Given the description of an element on the screen output the (x, y) to click on. 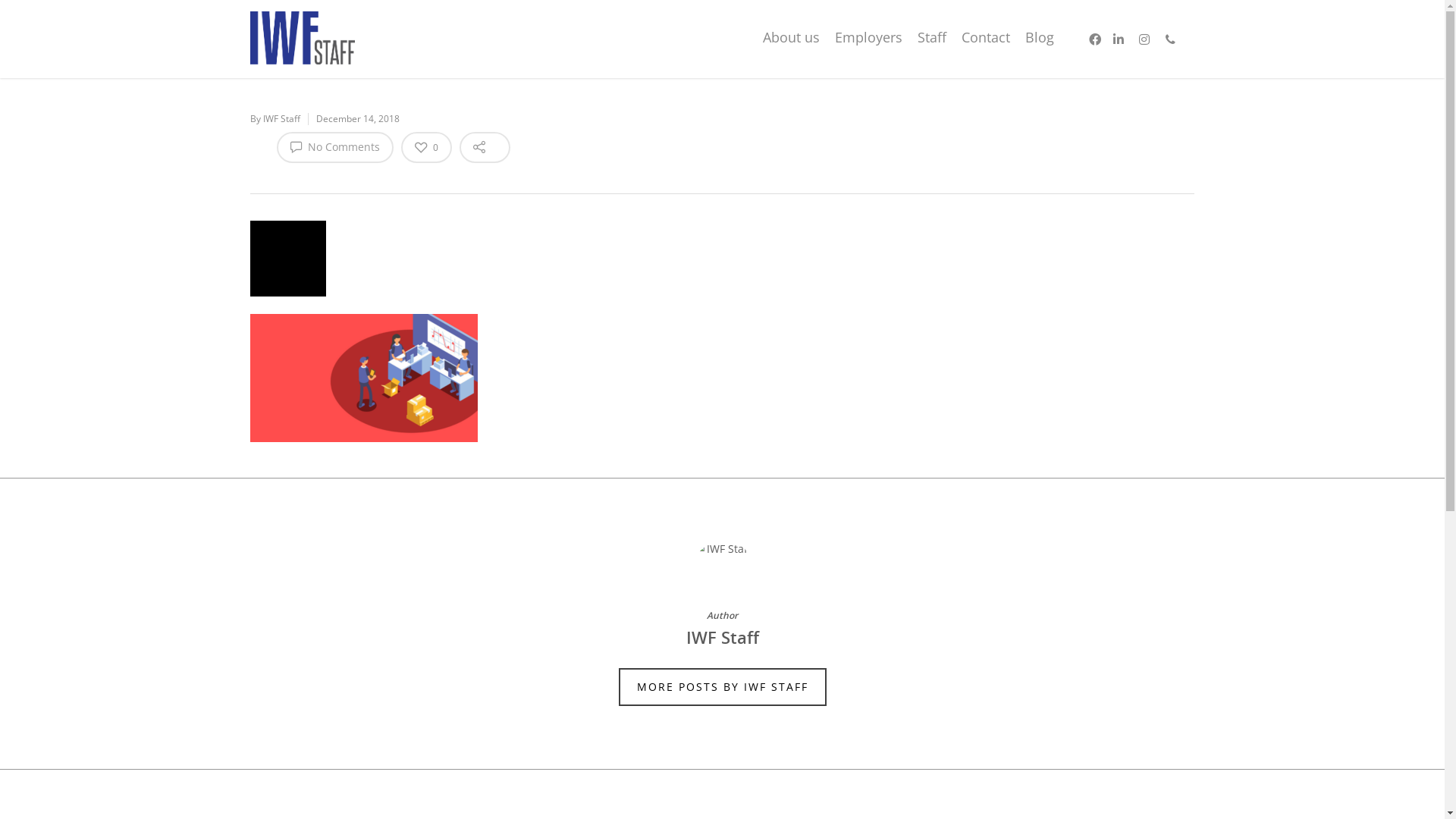
0 Element type: text (426, 147)
Staff Element type: text (931, 43)
About us Element type: text (790, 43)
Employers Element type: text (868, 43)
IWF Staff Element type: text (281, 118)
No Comments Element type: text (334, 147)
Blog Element type: text (1039, 43)
MORE POSTS BY IWF STAFF Element type: text (722, 687)
Contact Element type: text (985, 43)
